Given the description of an element on the screen output the (x, y) to click on. 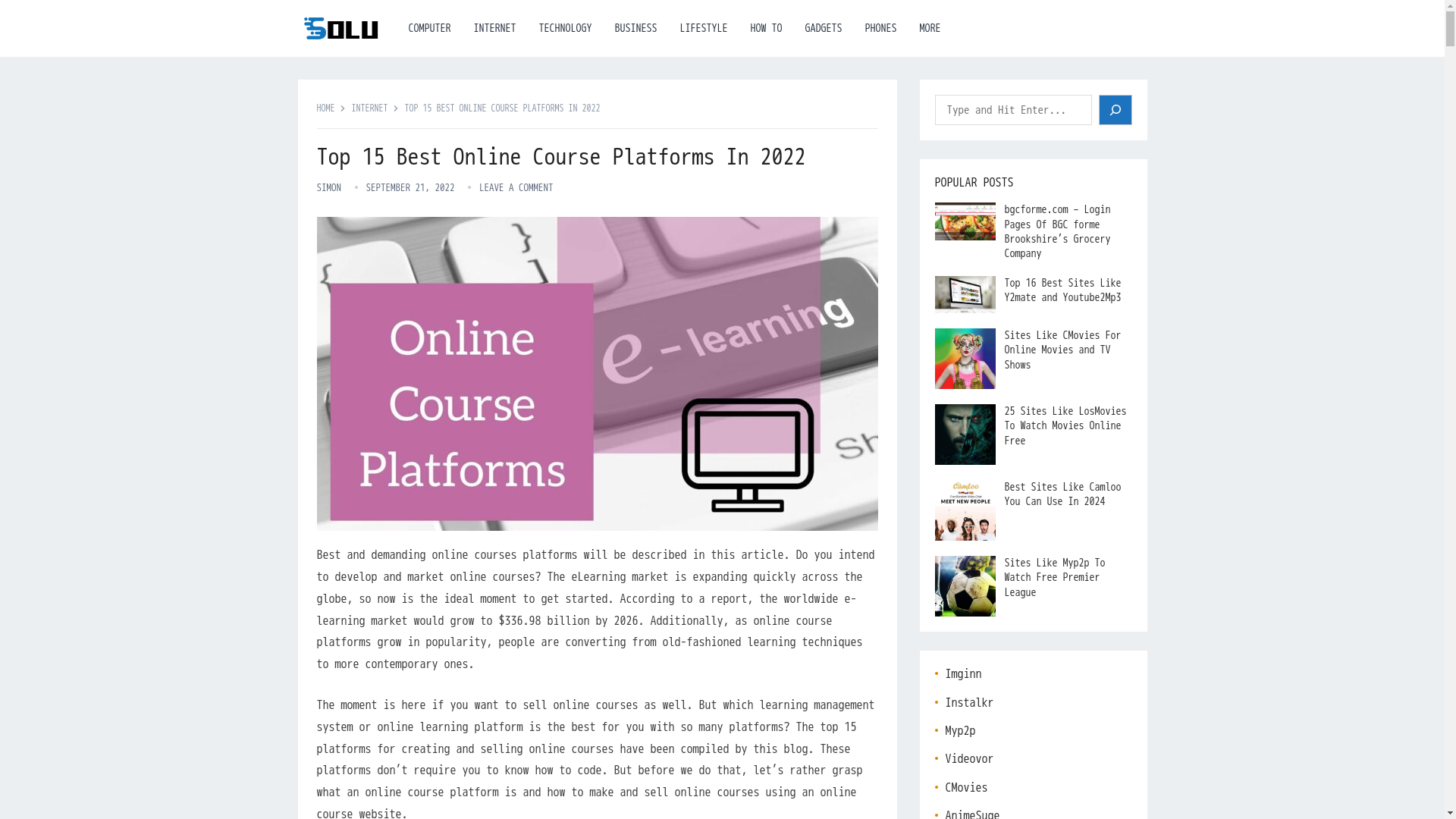
LIFESTYLE (703, 28)
PHONES (880, 28)
HOME (331, 108)
COMPUTER (430, 28)
SIMON (329, 187)
BUSINESS (636, 28)
TECHNOLOGY (565, 28)
LEAVE A COMMENT (516, 187)
INTERNET (375, 108)
INTERNET (495, 28)
